Given the description of an element on the screen output the (x, y) to click on. 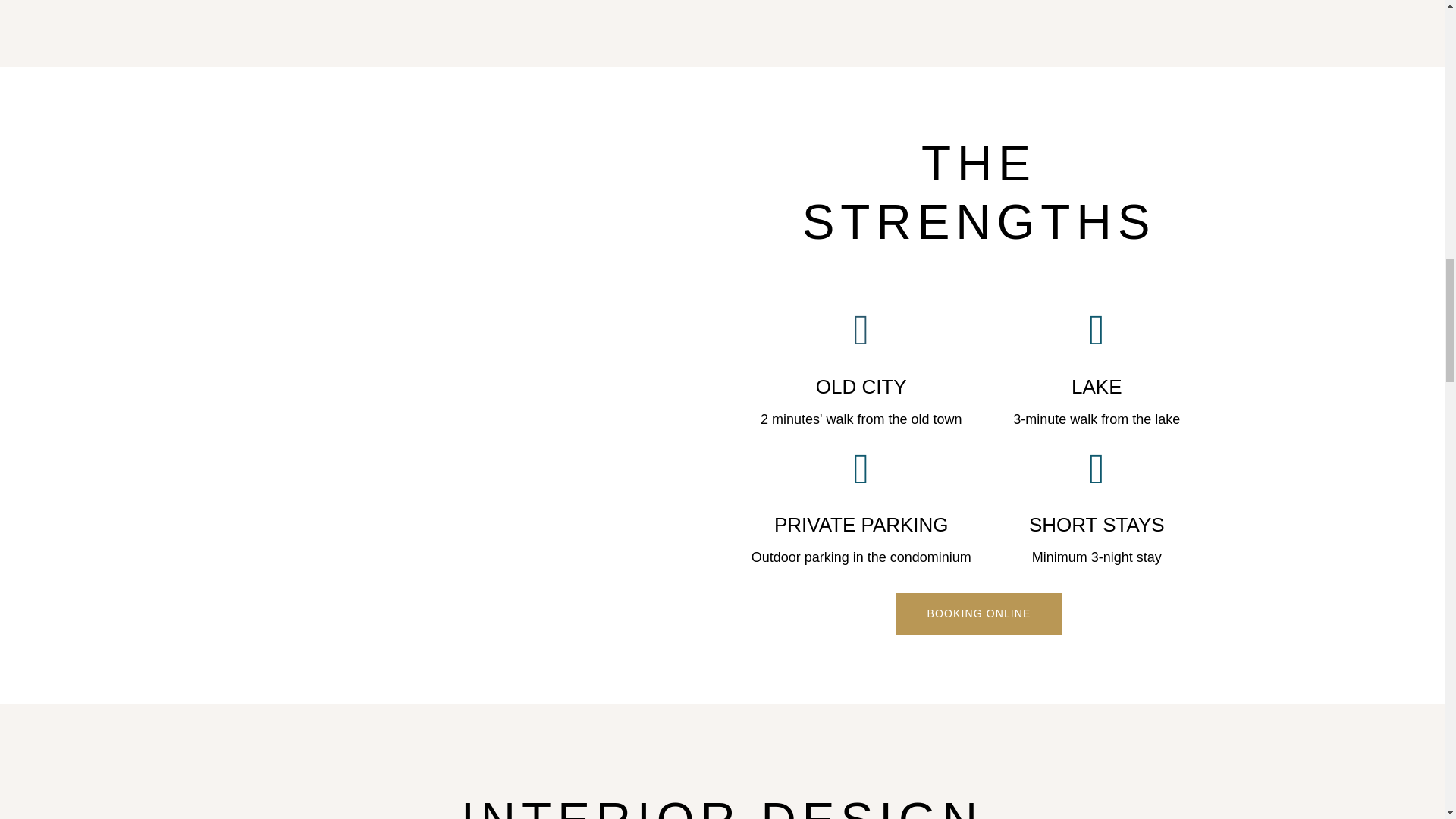
BOOKING ONLINE (978, 613)
